Given the description of an element on the screen output the (x, y) to click on. 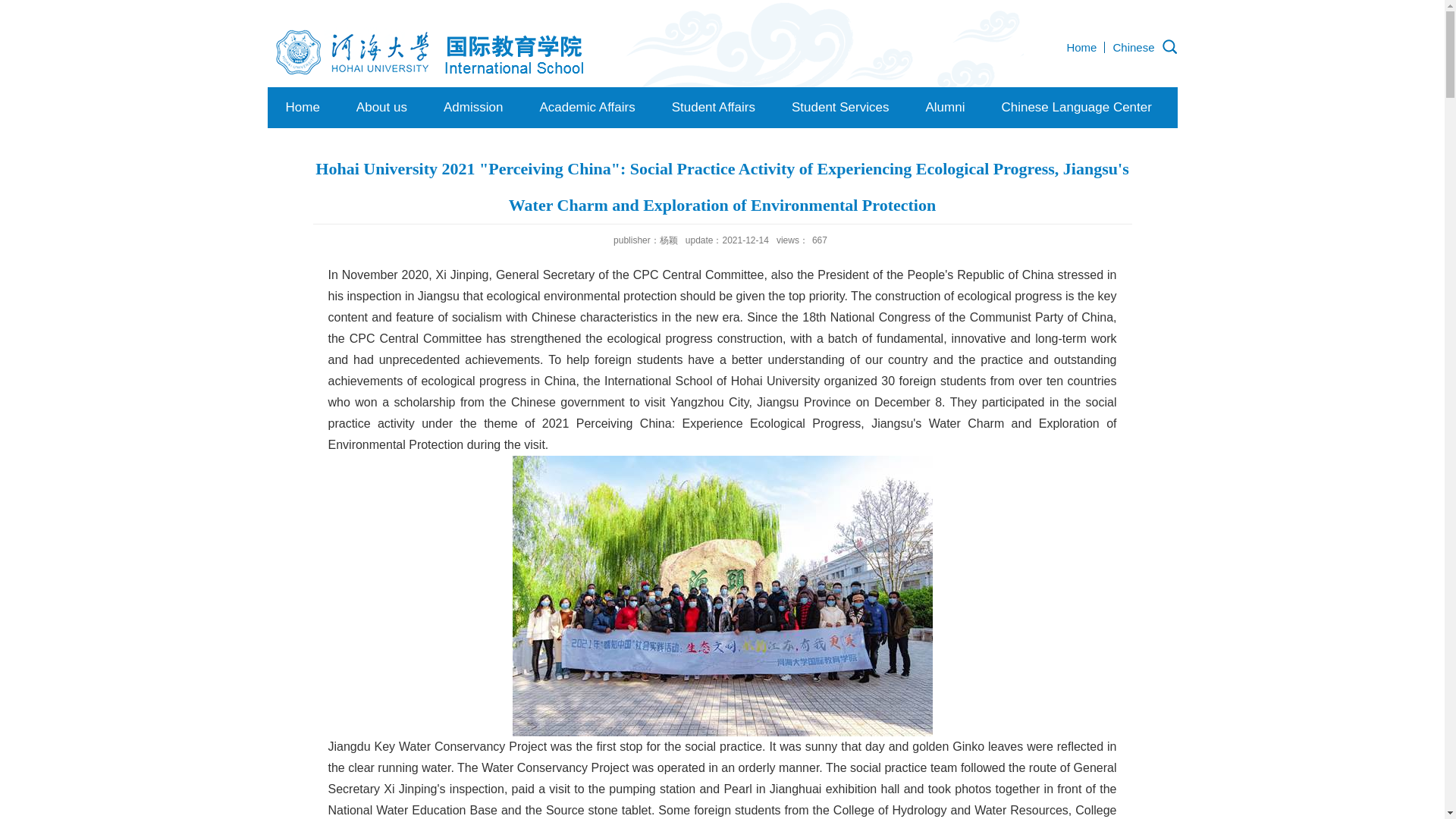
Student Affairs (713, 106)
Academic Affairs (586, 106)
Home (1080, 47)
About us (381, 106)
Admission (473, 106)
Chinese (1133, 47)
Home (301, 106)
